Given the description of an element on the screen output the (x, y) to click on. 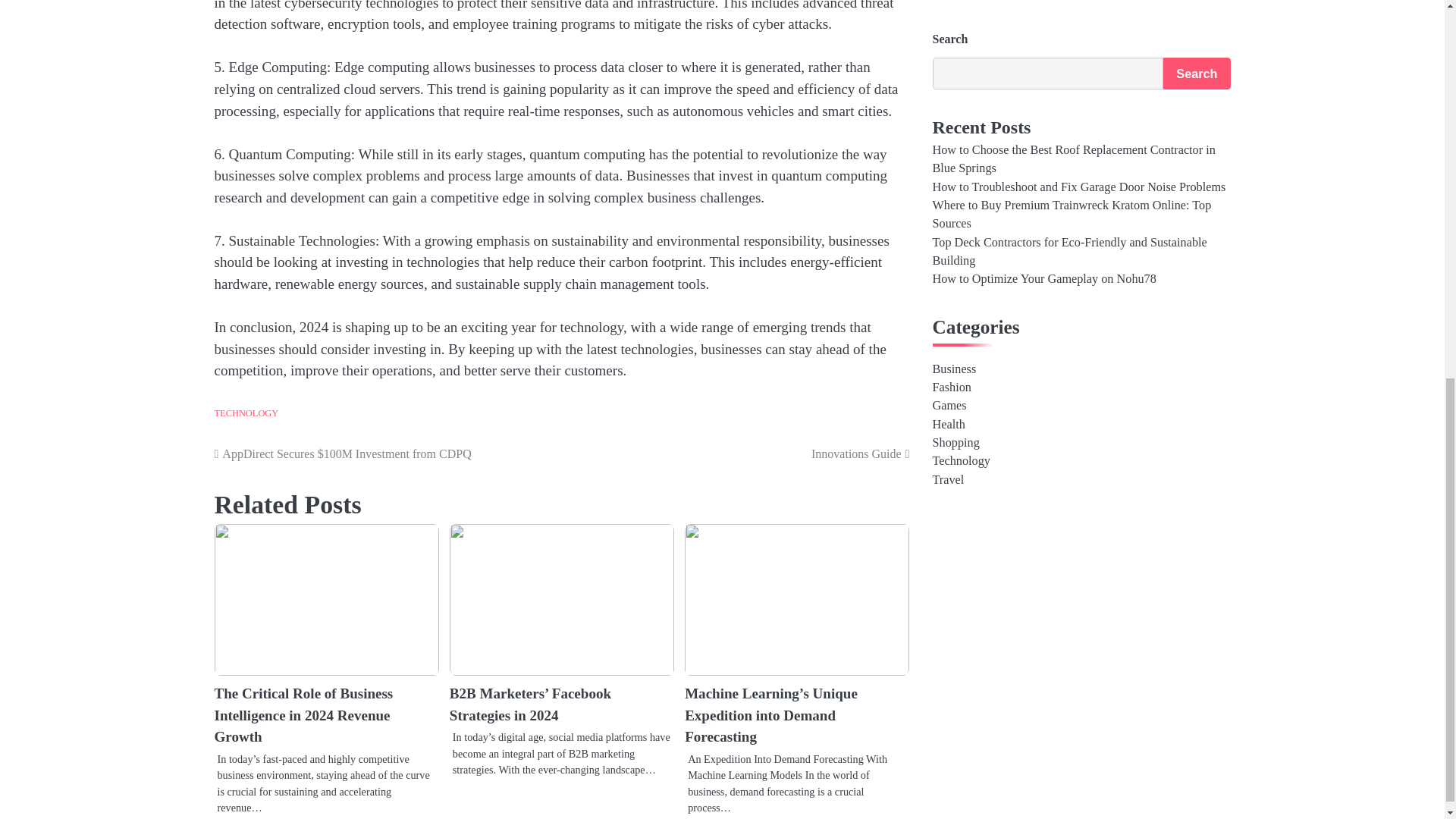
TECHNOLOGY (246, 412)
Innovations Guide (738, 454)
